Given the description of an element on the screen output the (x, y) to click on. 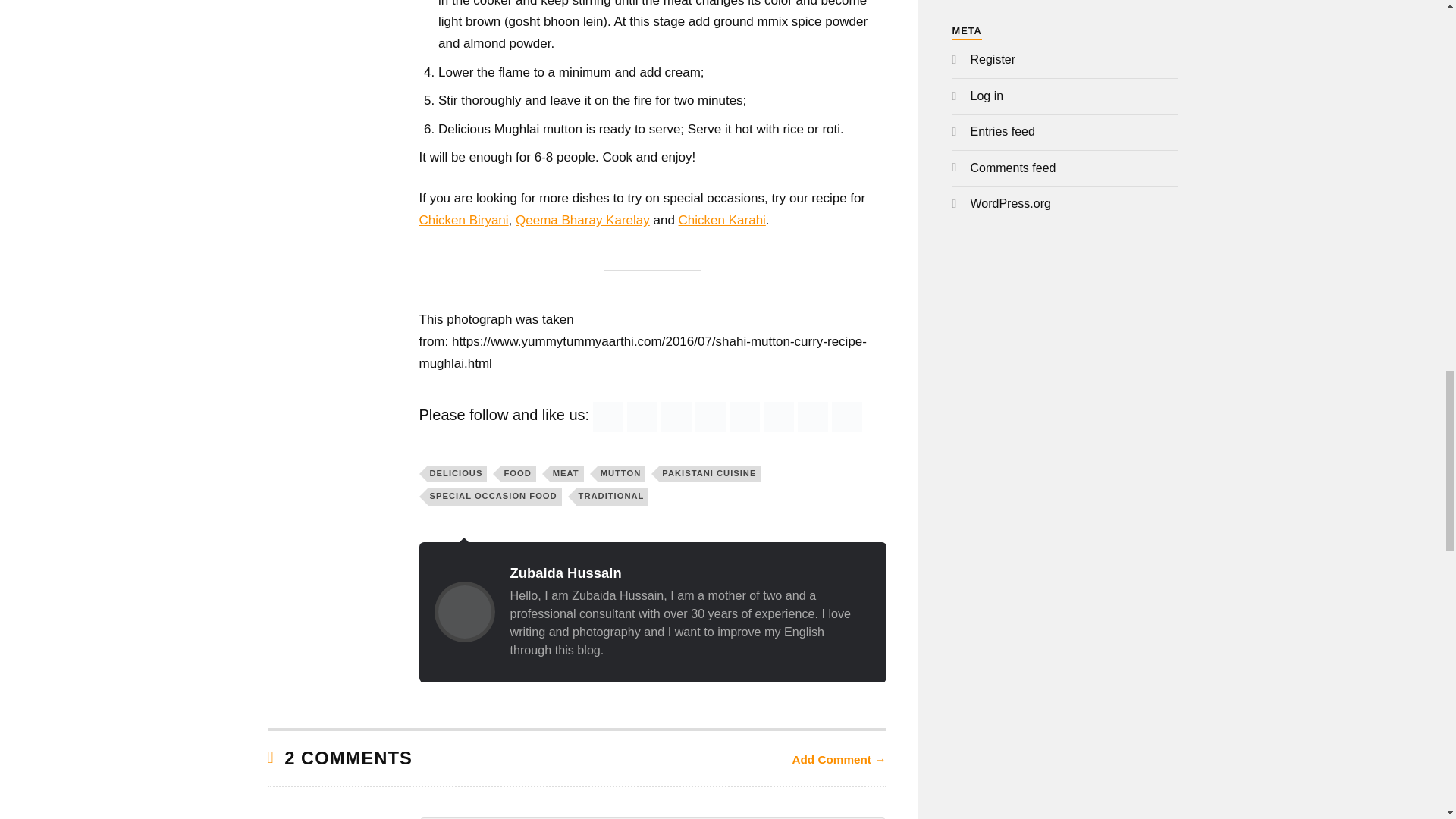
Instagram (812, 417)
LinkedIn (777, 417)
RSS (607, 417)
Facebook (676, 417)
Pinterest (744, 417)
Follow by Email (642, 417)
